Given the description of an element on the screen output the (x, y) to click on. 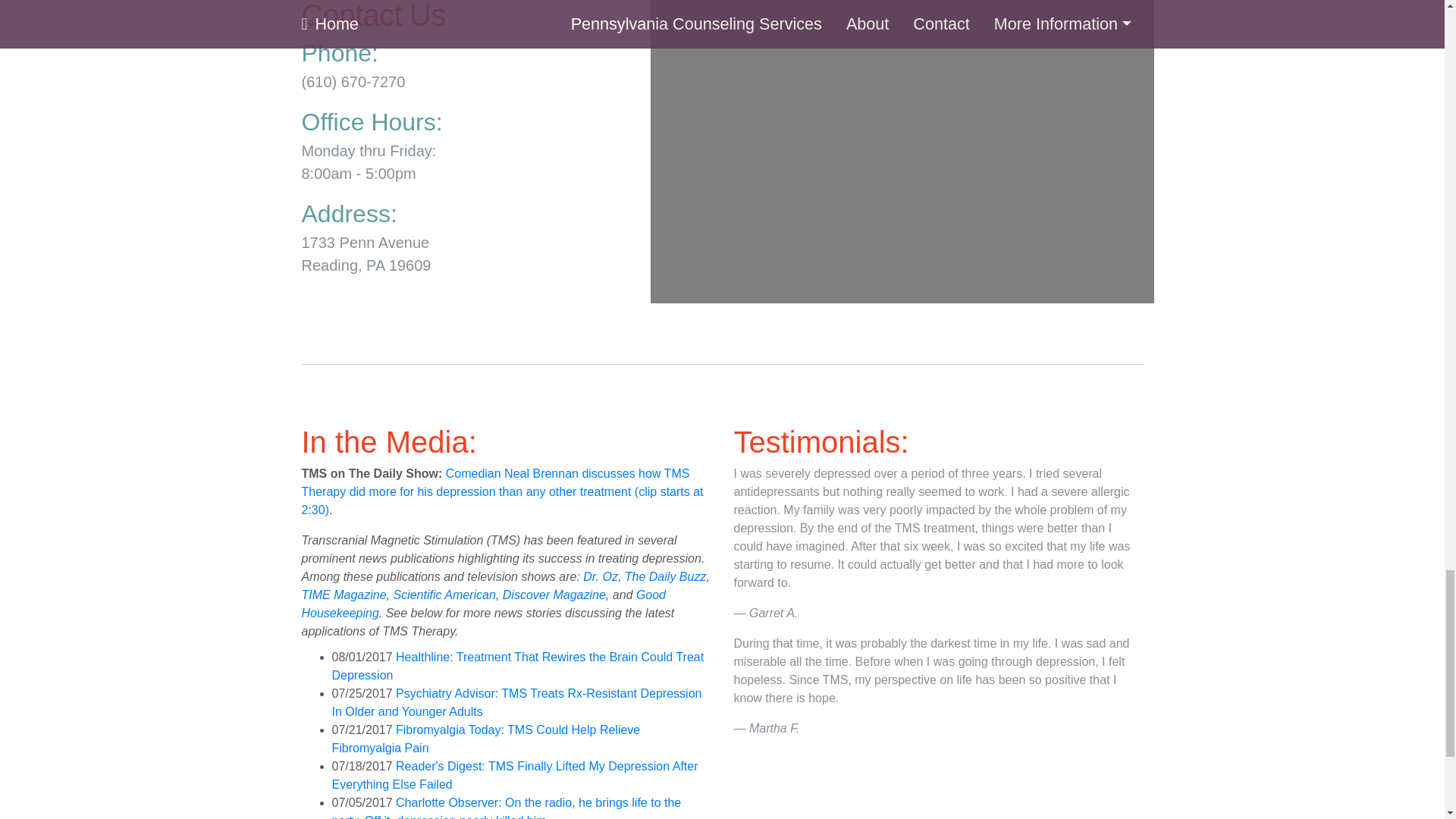
Fibromyalgia Today: TMS Could Help Relieve Fibromyalgia Pain (485, 738)
Good Housekeeping (483, 603)
Scientific American (444, 594)
Dr. Oz (600, 576)
Discover Magazine (553, 594)
The Daily Buzz (665, 576)
TIME Magazine (344, 594)
